Given the description of an element on the screen output the (x, y) to click on. 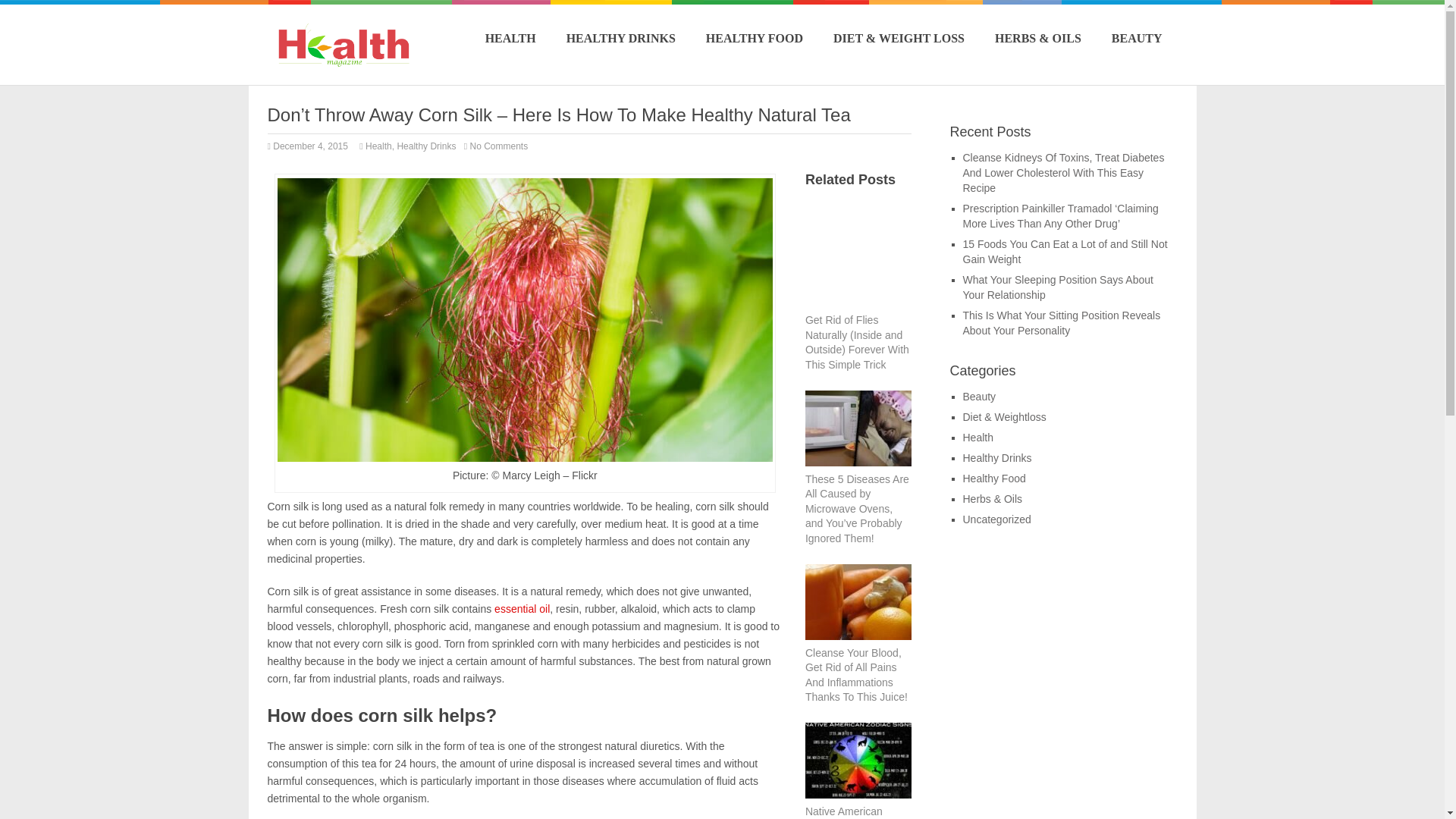
Healthy Drinks (997, 458)
What Your Sleeping Position Says About Your Relationship (1057, 287)
essential oil (522, 608)
No Comments (502, 145)
Beauty (978, 396)
HEALTHY FOOD (754, 38)
Health (378, 145)
Healthy Drinks (425, 145)
Health (977, 437)
Uncategorized (996, 519)
Healthy Food (994, 478)
